Given the description of an element on the screen output the (x, y) to click on. 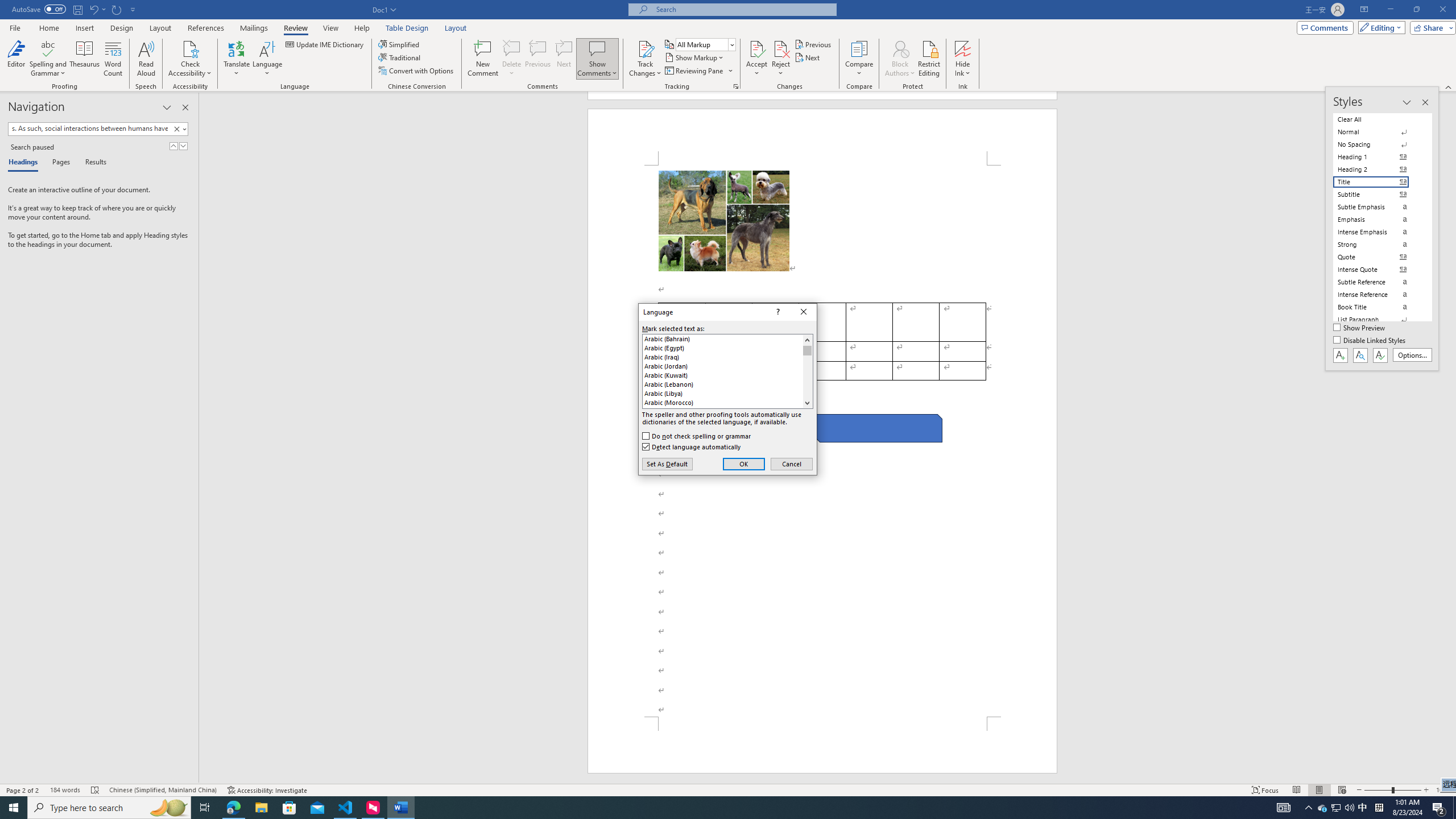
Block Authors (900, 48)
Clear All (1377, 119)
Book Title (1377, 306)
Translate (236, 58)
Update IME Dictionary... (324, 44)
Track Changes (644, 48)
Spelling and Grammar (48, 48)
Previous Result (173, 145)
Show Preview (1360, 328)
Reviewing Pane (694, 69)
